Given the description of an element on the screen output the (x, y) to click on. 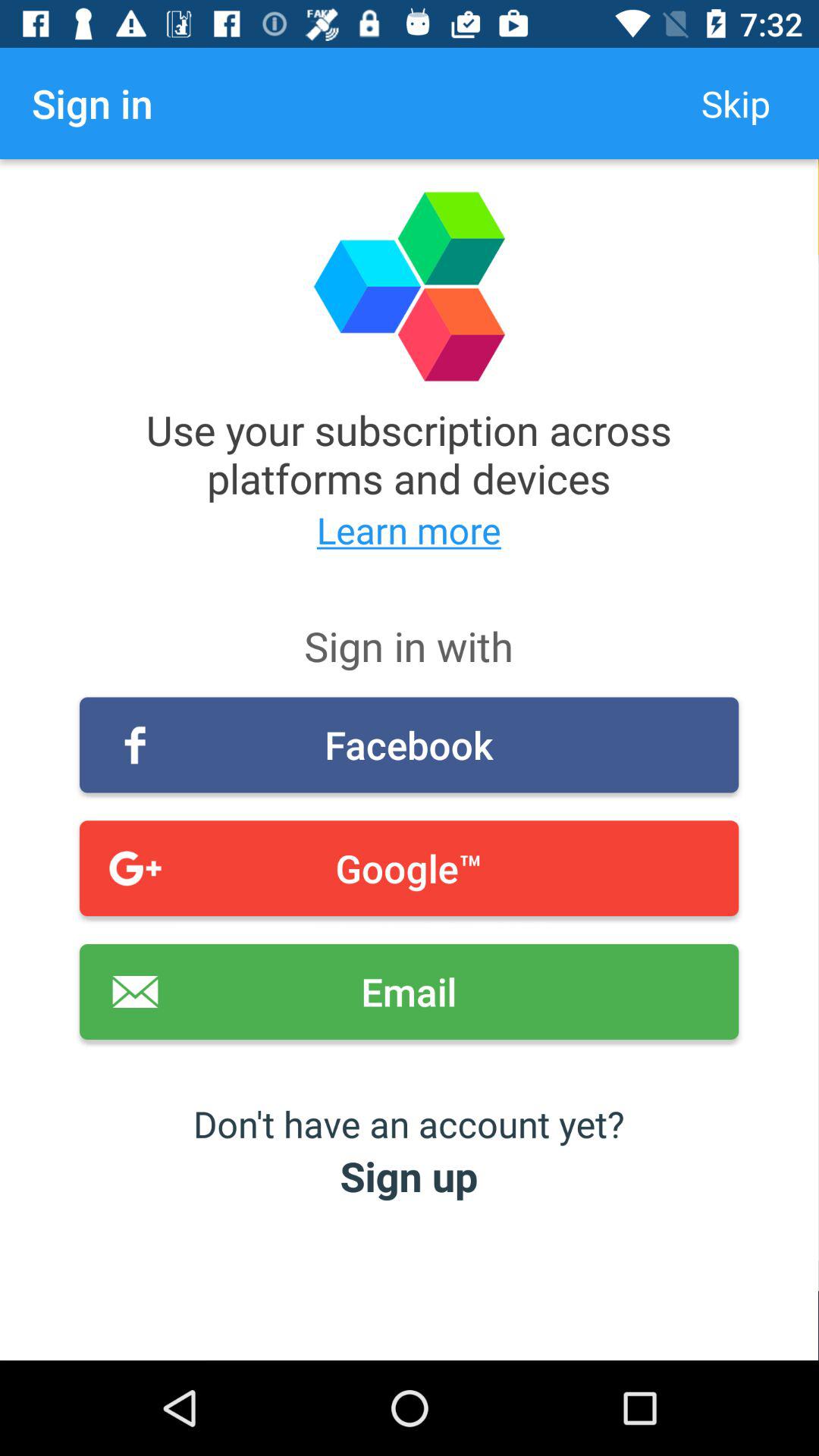
turn on icon at the top right corner (735, 103)
